Given the description of an element on the screen output the (x, y) to click on. 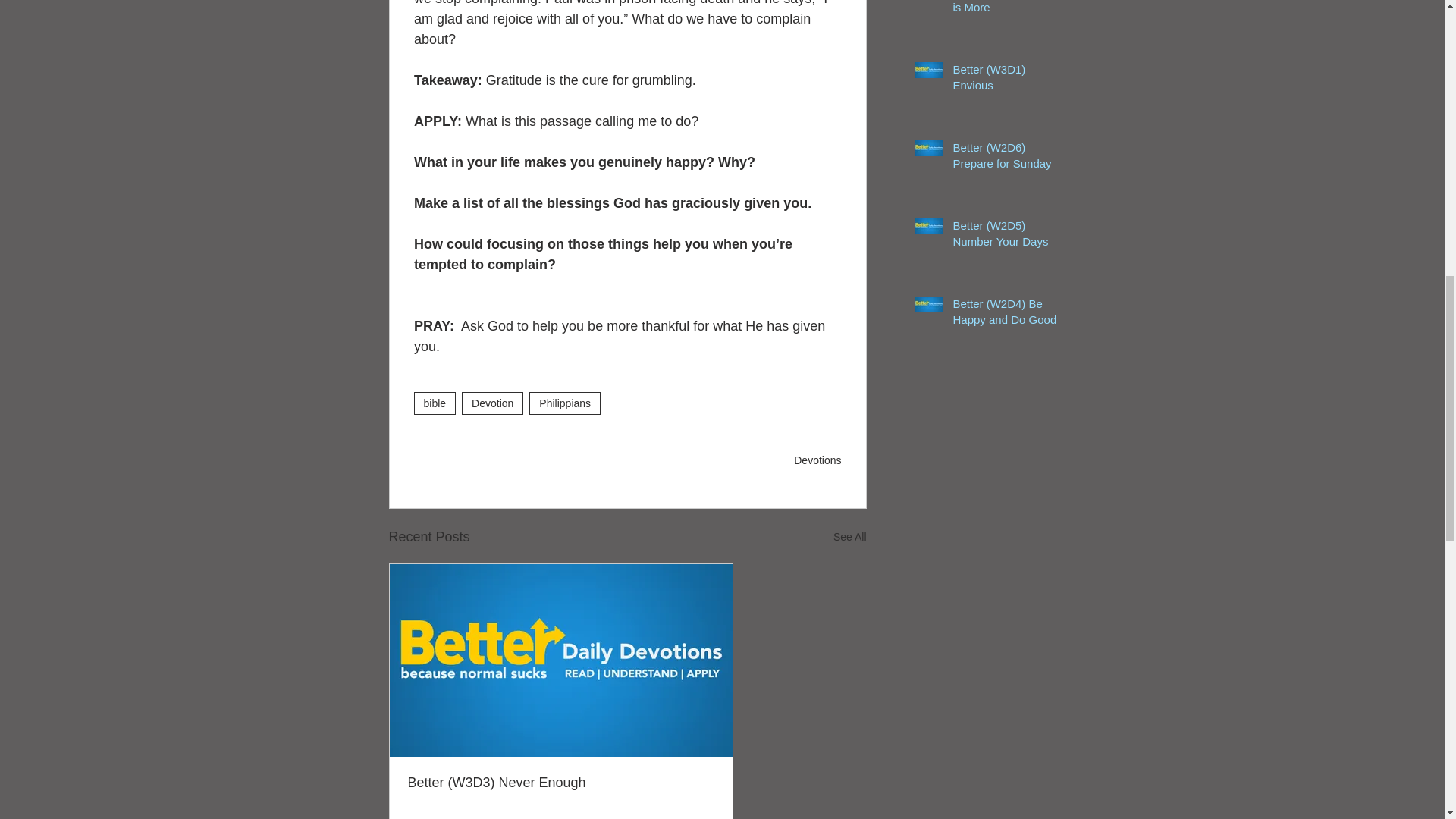
Philippians (564, 403)
bible (435, 403)
Devotions (817, 460)
See All (849, 536)
Devotion (491, 403)
